Given the description of an element on the screen output the (x, y) to click on. 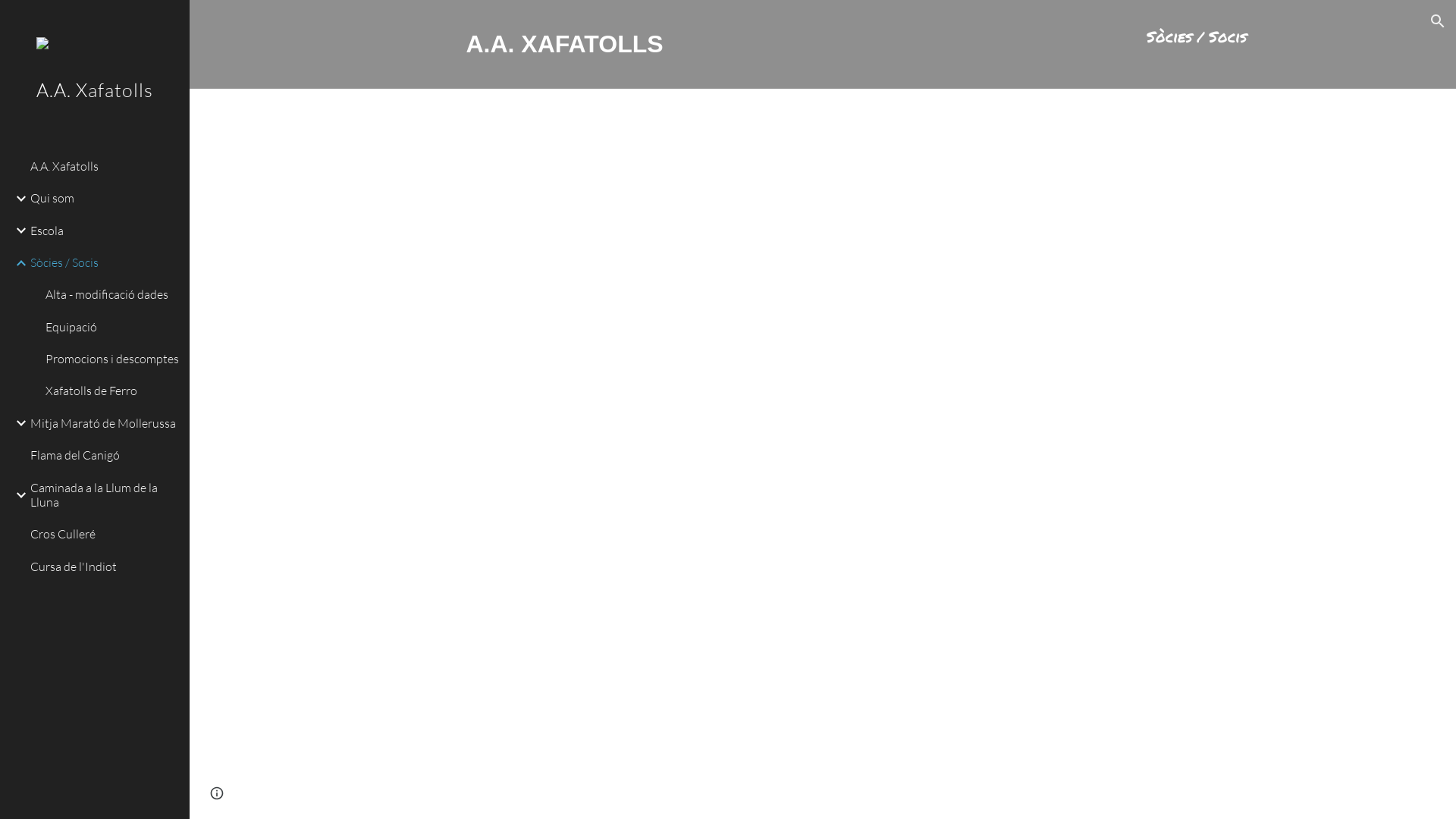
A.A. Xafatolls Element type: text (103, 166)
A.A. Xafatolls Element type: text (94, 109)
Expand/Collapse Element type: hover (16, 198)
Expand/Collapse Element type: hover (16, 230)
Promocions i descomptes Element type: text (111, 359)
Caminada a la Llum de la Lluna Element type: text (103, 494)
Expand/Collapse Element type: hover (16, 263)
Expand/Collapse Element type: hover (16, 423)
Xafatolls de Ferro Element type: text (111, 391)
Qui som Element type: text (103, 198)
Expand/Collapse Element type: hover (16, 495)
Cursa de l'Indiot Element type: text (103, 566)
Escola Element type: text (103, 230)
